Given the description of an element on the screen output the (x, y) to click on. 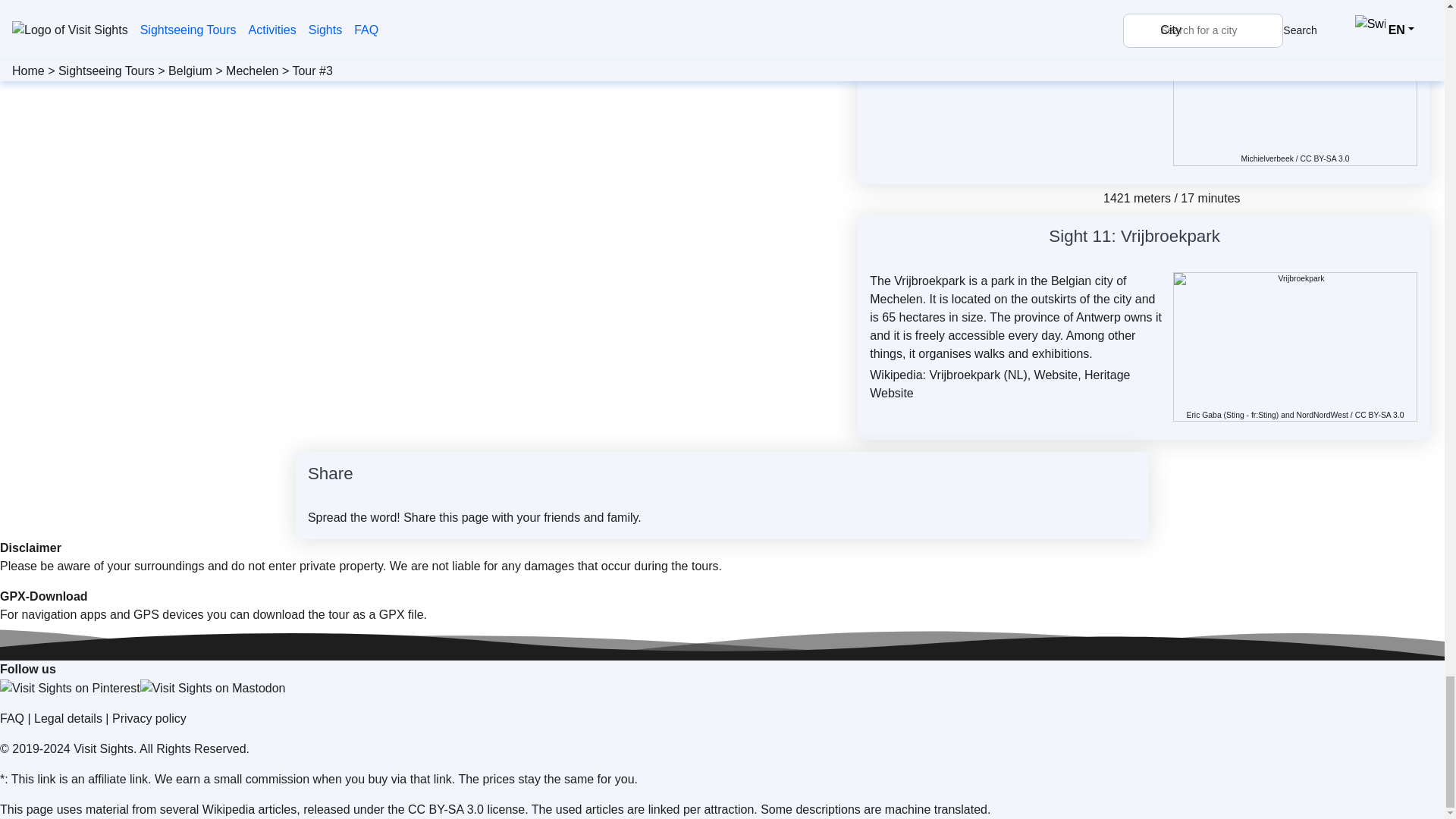
Visit Sights on Mastodon (212, 688)
User:Sting (1234, 415)
Visit Sights on Pinterest (69, 688)
User:Michielverbeek (1267, 158)
fr:Utilisateur:Sting (1263, 415)
User:NordNordWest (1321, 415)
